Given the description of an element on the screen output the (x, y) to click on. 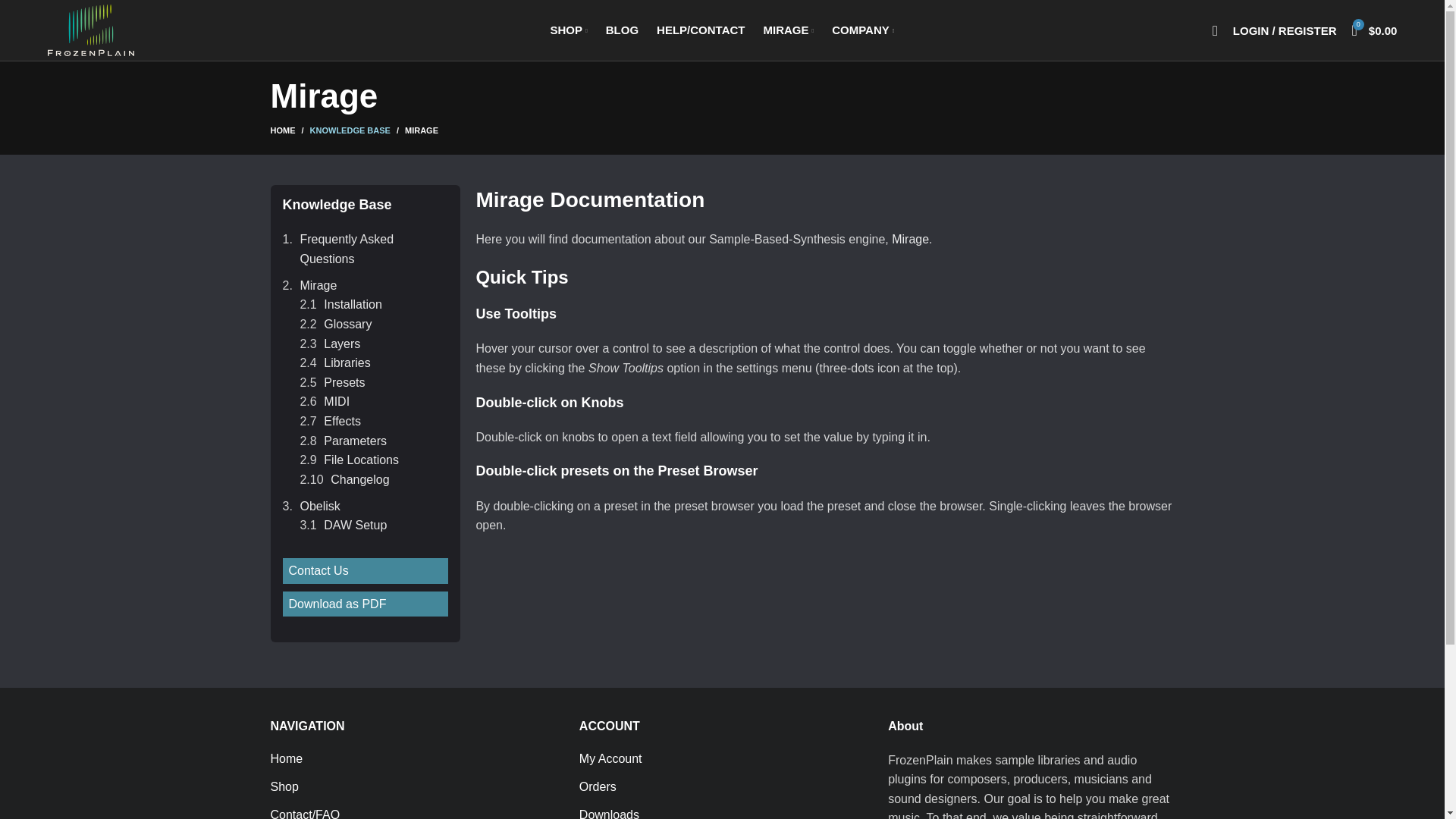
MIRAGE (788, 30)
BLOG (621, 30)
SHOP (567, 30)
